Given the description of an element on the screen output the (x, y) to click on. 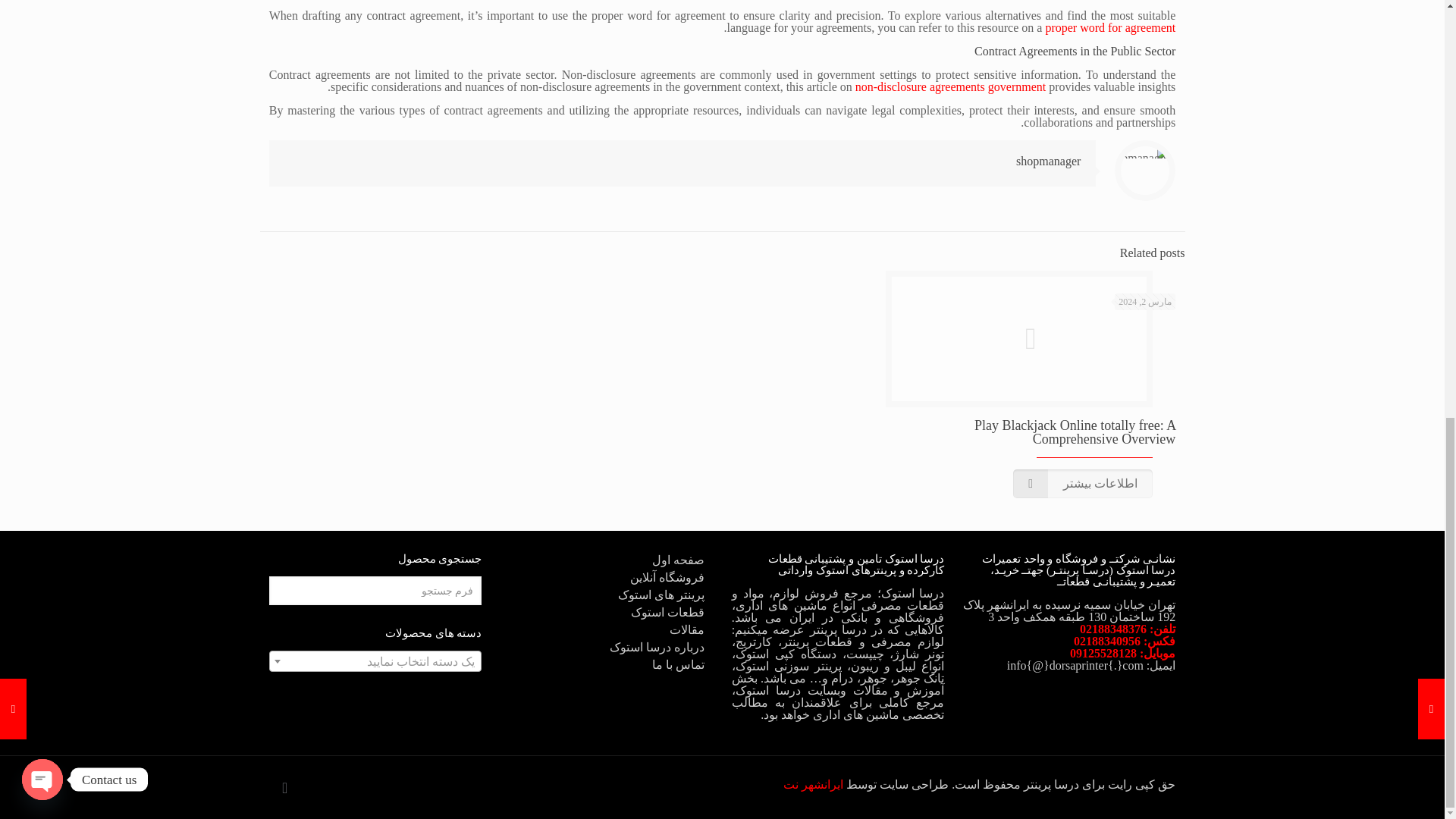
Play Blackjack Online totally free: A Comprehensive Overview (1074, 431)
non-disclosure agreements government (950, 86)
shopmanager (1048, 160)
proper word for agreement (1109, 27)
